Given the description of an element on the screen output the (x, y) to click on. 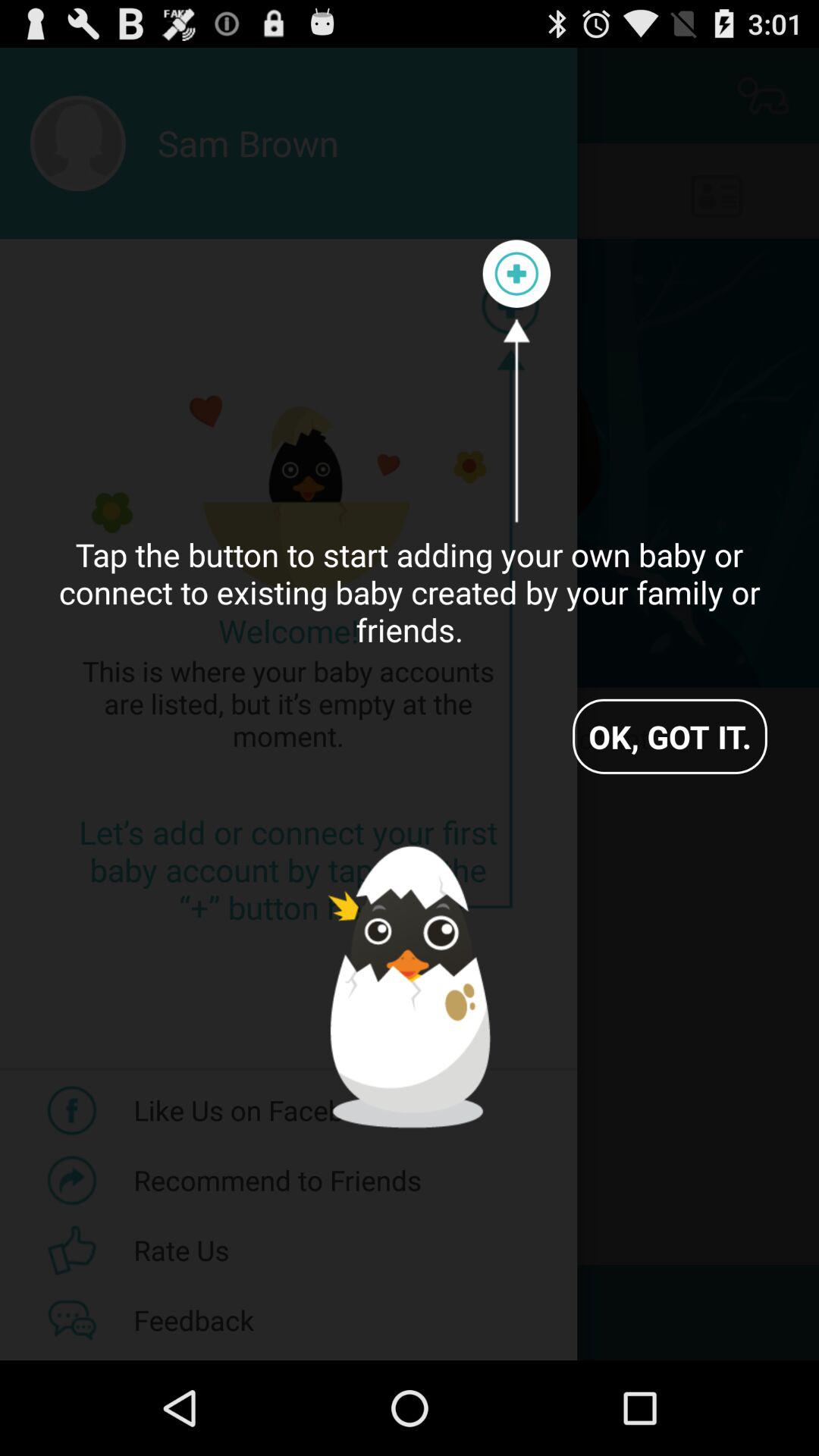
add/ create your own baby (516, 273)
